Given the description of an element on the screen output the (x, y) to click on. 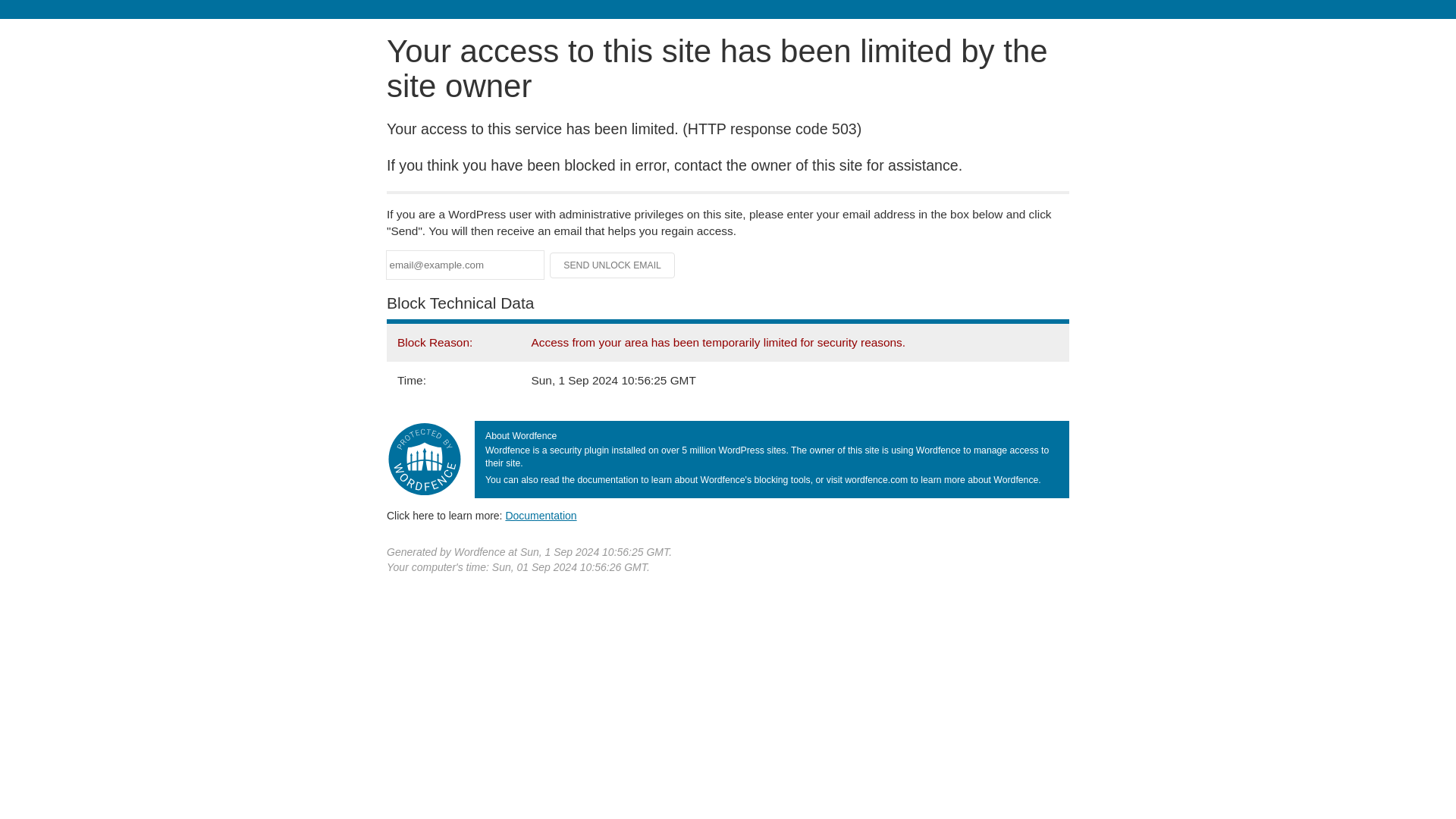
Documentation (540, 515)
Send Unlock Email (612, 265)
Send Unlock Email (612, 265)
